Given the description of an element on the screen output the (x, y) to click on. 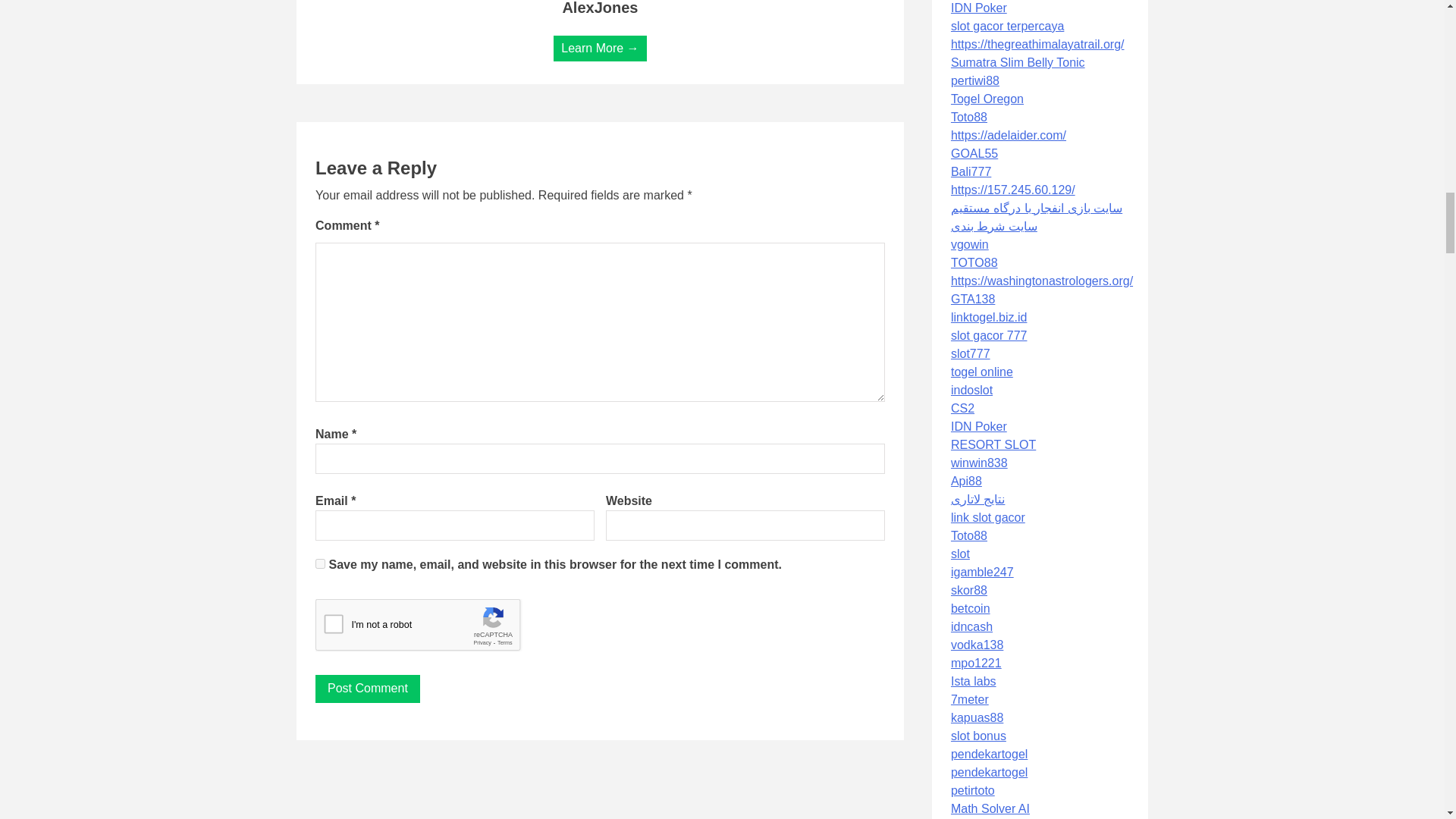
Post Comment (367, 688)
reCAPTCHA (430, 628)
yes (319, 563)
Post Comment (367, 688)
